Given the description of an element on the screen output the (x, y) to click on. 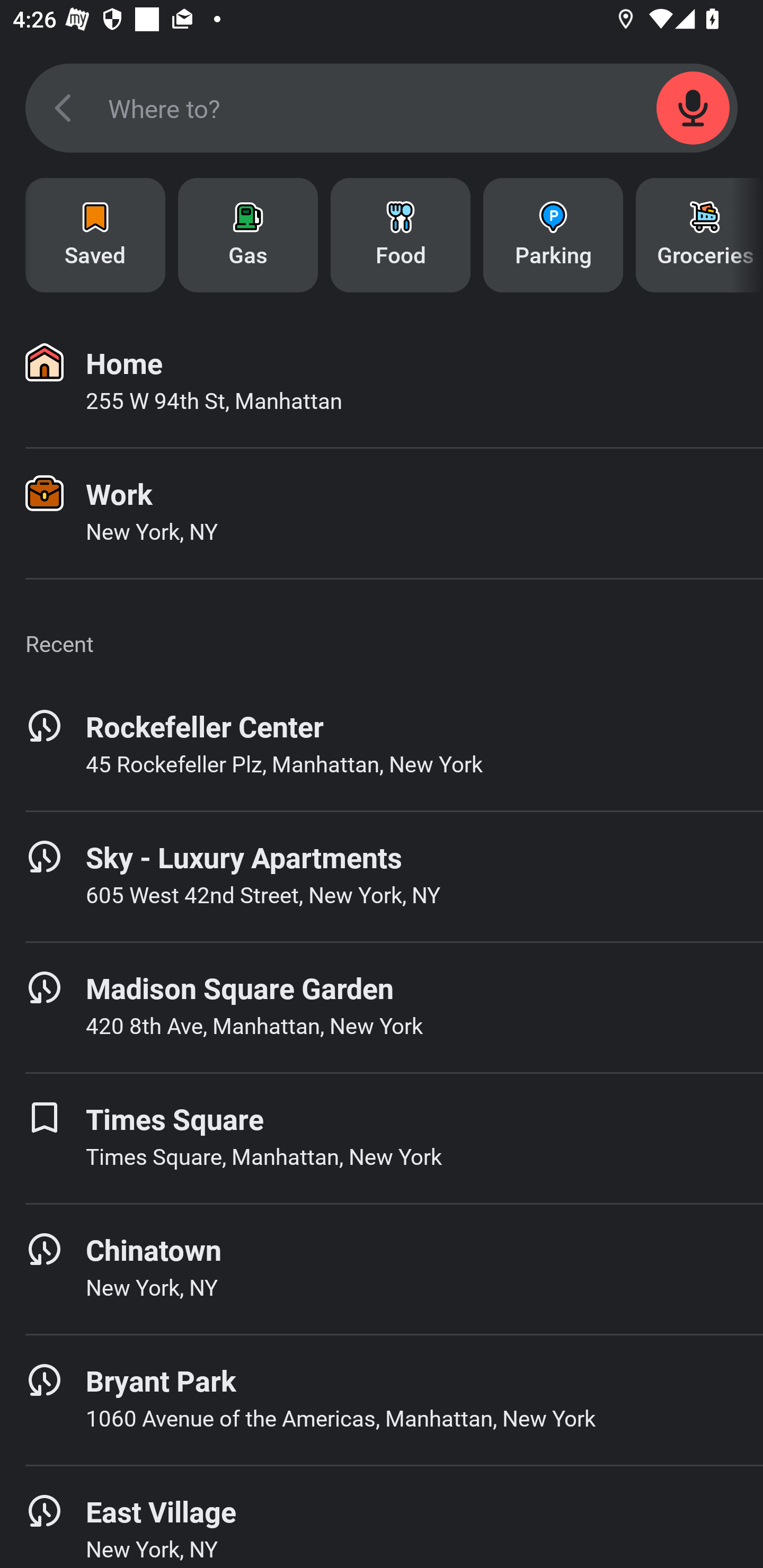
SEARCH_SCREEN_SEARCH_FIELD Where to? (381, 108)
Saved (95, 234)
Gas (247, 234)
Food (400, 234)
Parking (552, 234)
Groceries (699, 234)
Home 255 W 94th St, Manhattan (381, 382)
Work New York, NY (381, 513)
Times Square Times Square, Manhattan, New York (381, 1138)
Chinatown New York, NY (381, 1269)
East Village New York, NY (381, 1517)
